Given the description of an element on the screen output the (x, y) to click on. 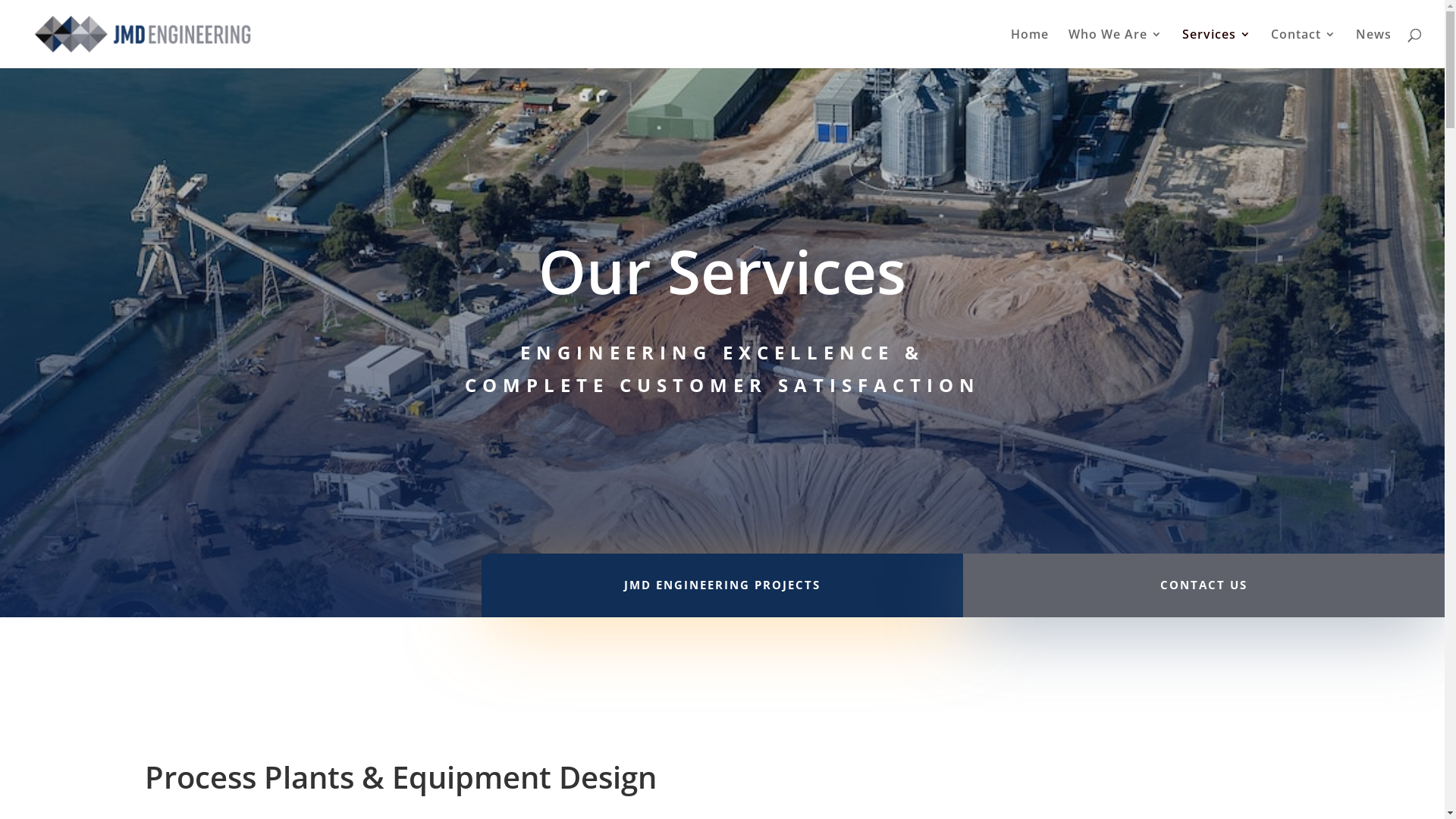
Home Element type: text (1029, 48)
Who We Are Element type: text (1115, 48)
News Element type: text (1373, 48)
Services Element type: text (1216, 48)
Contact Element type: text (1303, 48)
